Given the description of an element on the screen output the (x, y) to click on. 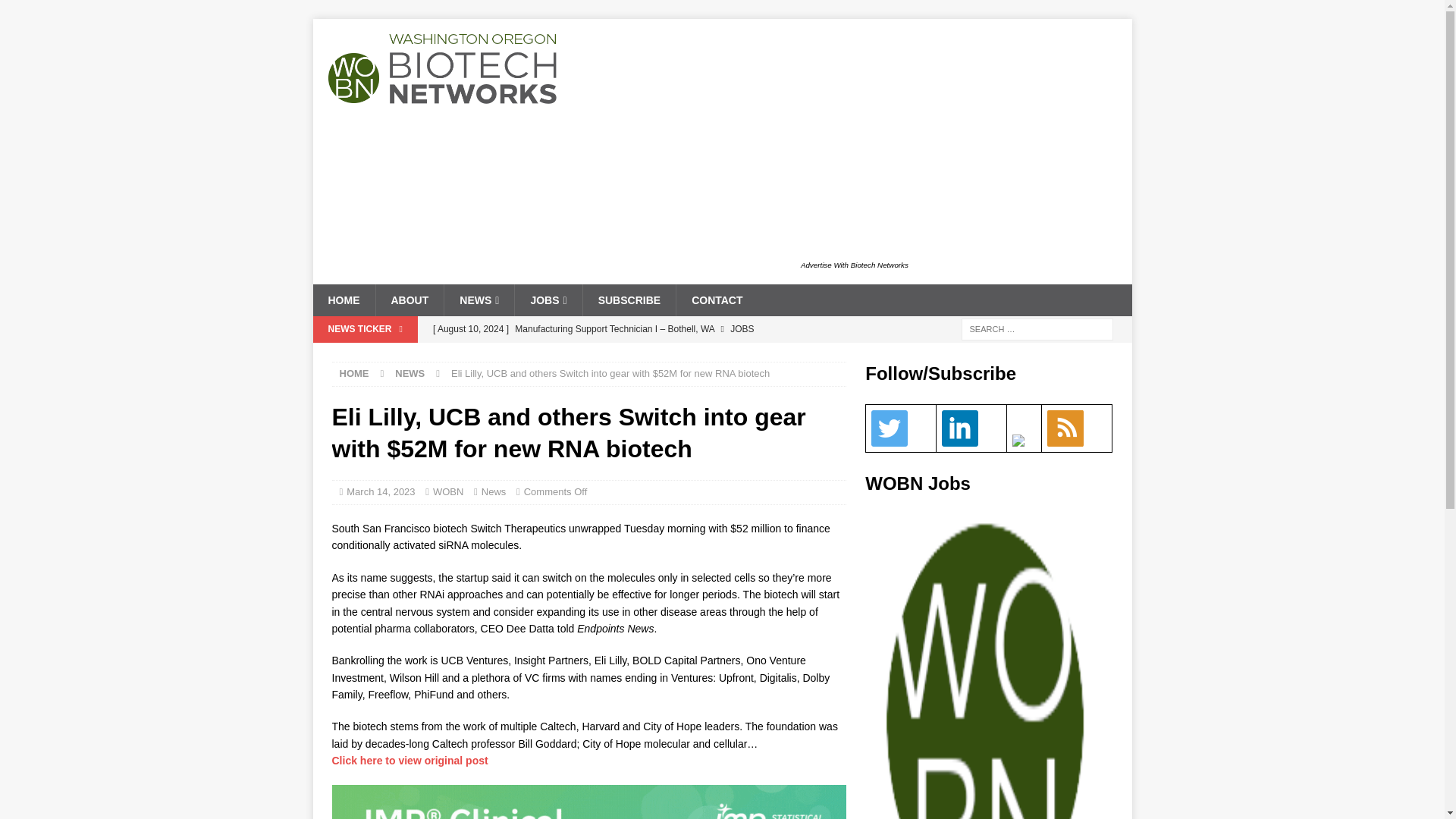
Search (56, 11)
WOBN (447, 491)
Click here to view original post (409, 760)
JOBS (546, 300)
Advertise With Biotech Networks (854, 265)
March 14, 2023 (380, 491)
HOME (354, 373)
SUBSCRIBE (628, 300)
NEWS (409, 373)
NEWS (478, 300)
